Given the description of an element on the screen output the (x, y) to click on. 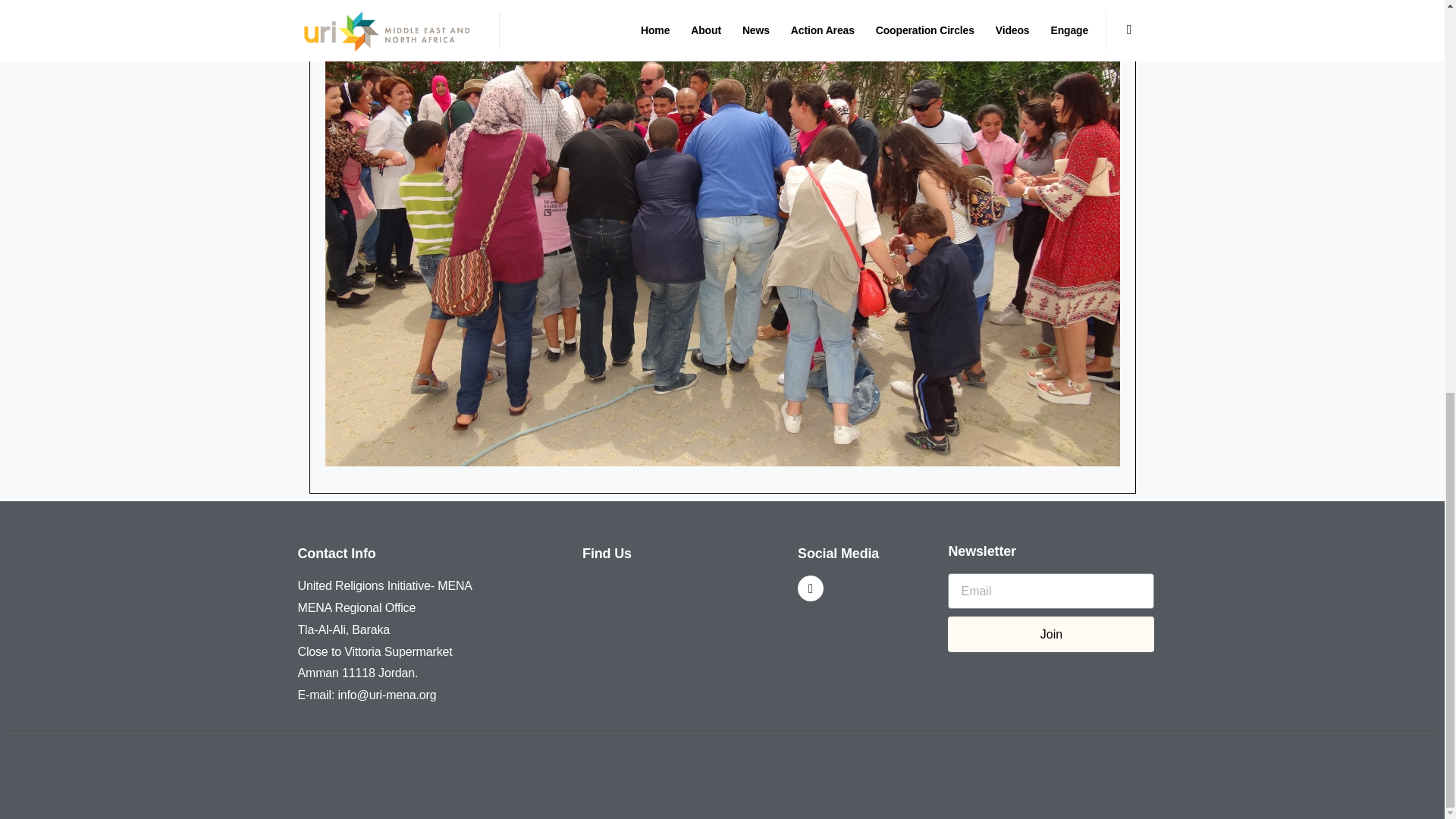
Join (1050, 633)
